Given the description of an element on the screen output the (x, y) to click on. 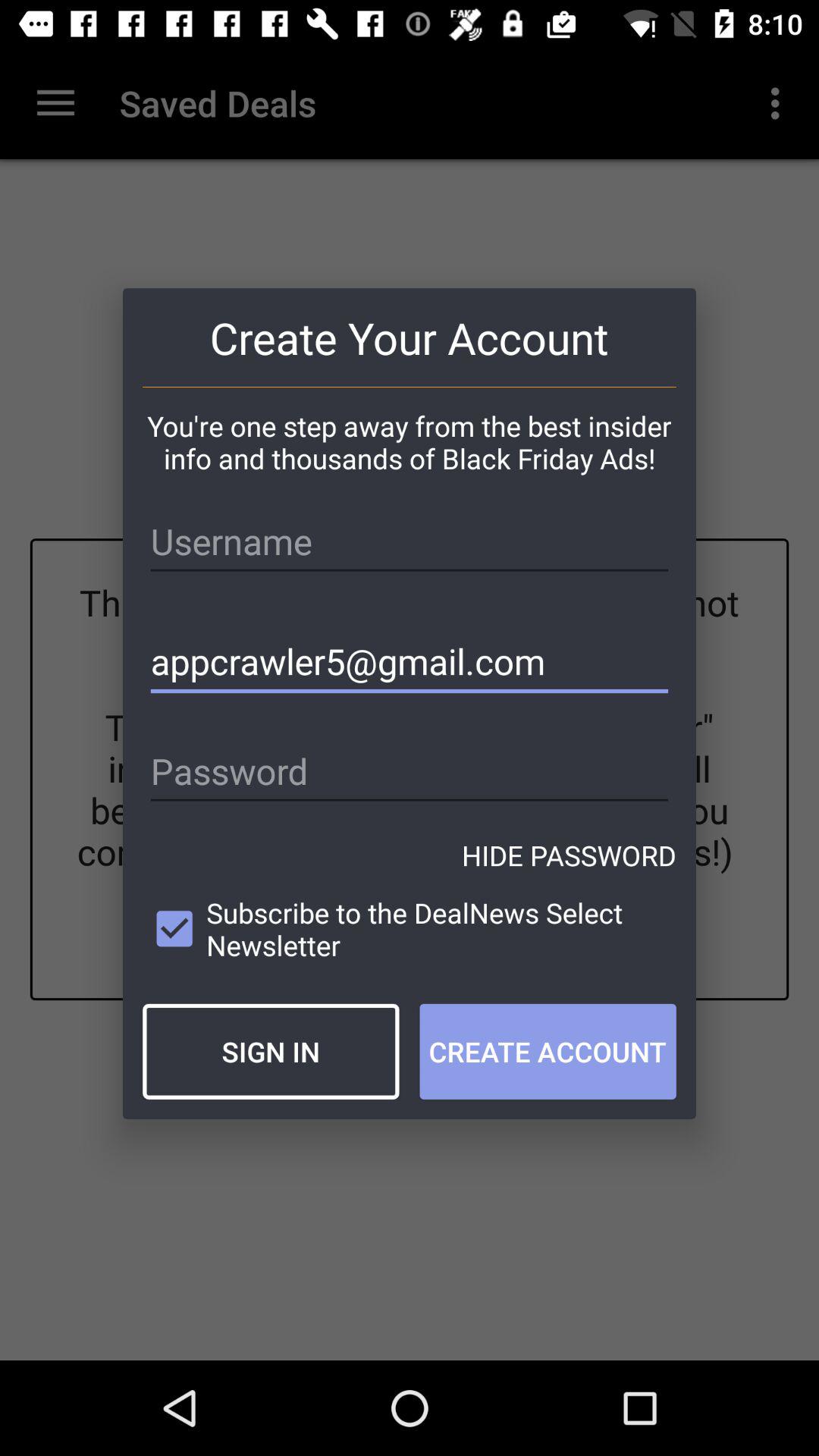
choose sign in icon (270, 1051)
